Given the description of an element on the screen output the (x, y) to click on. 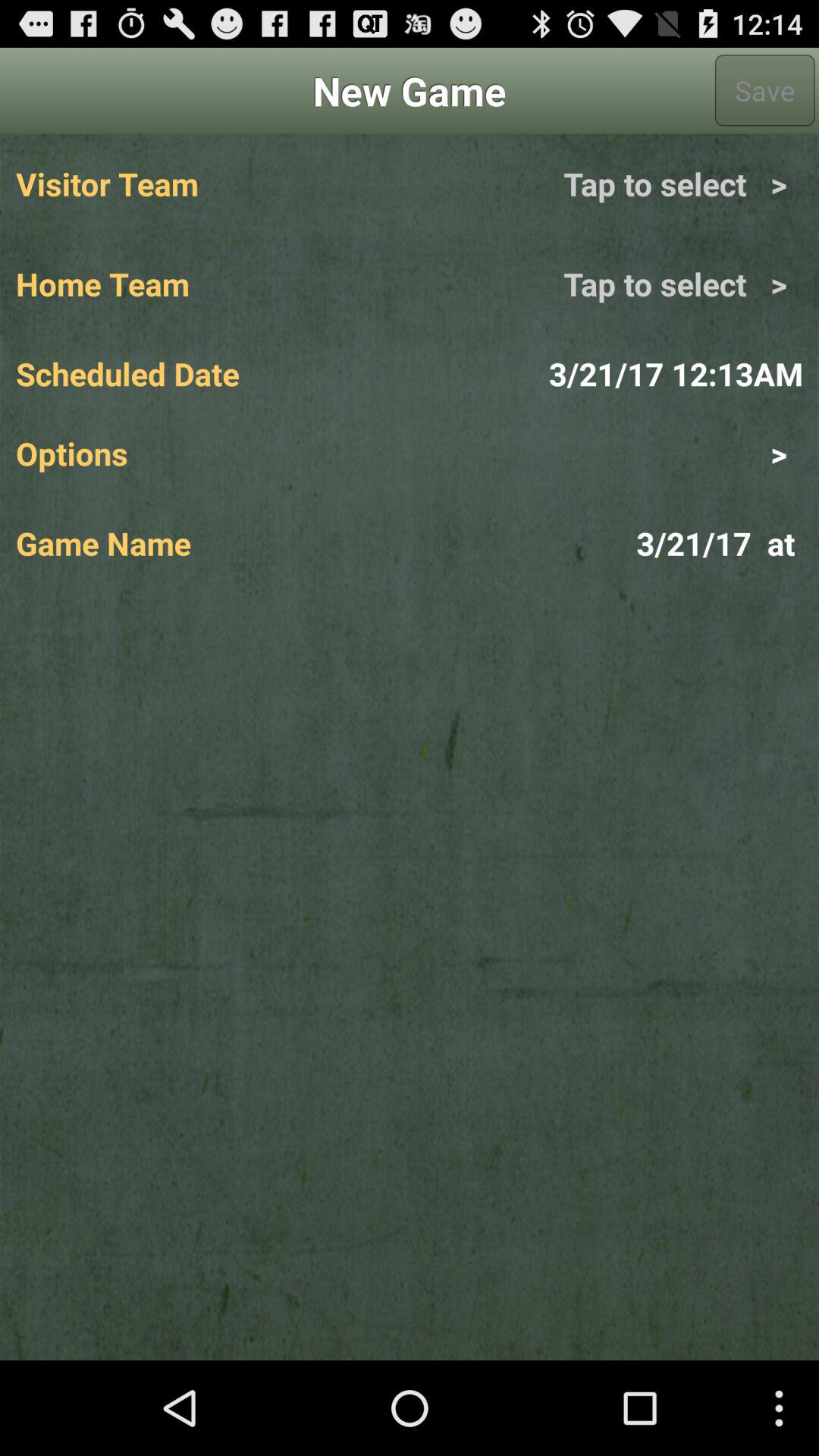
jump until >   app (606, 452)
